Given the description of an element on the screen output the (x, y) to click on. 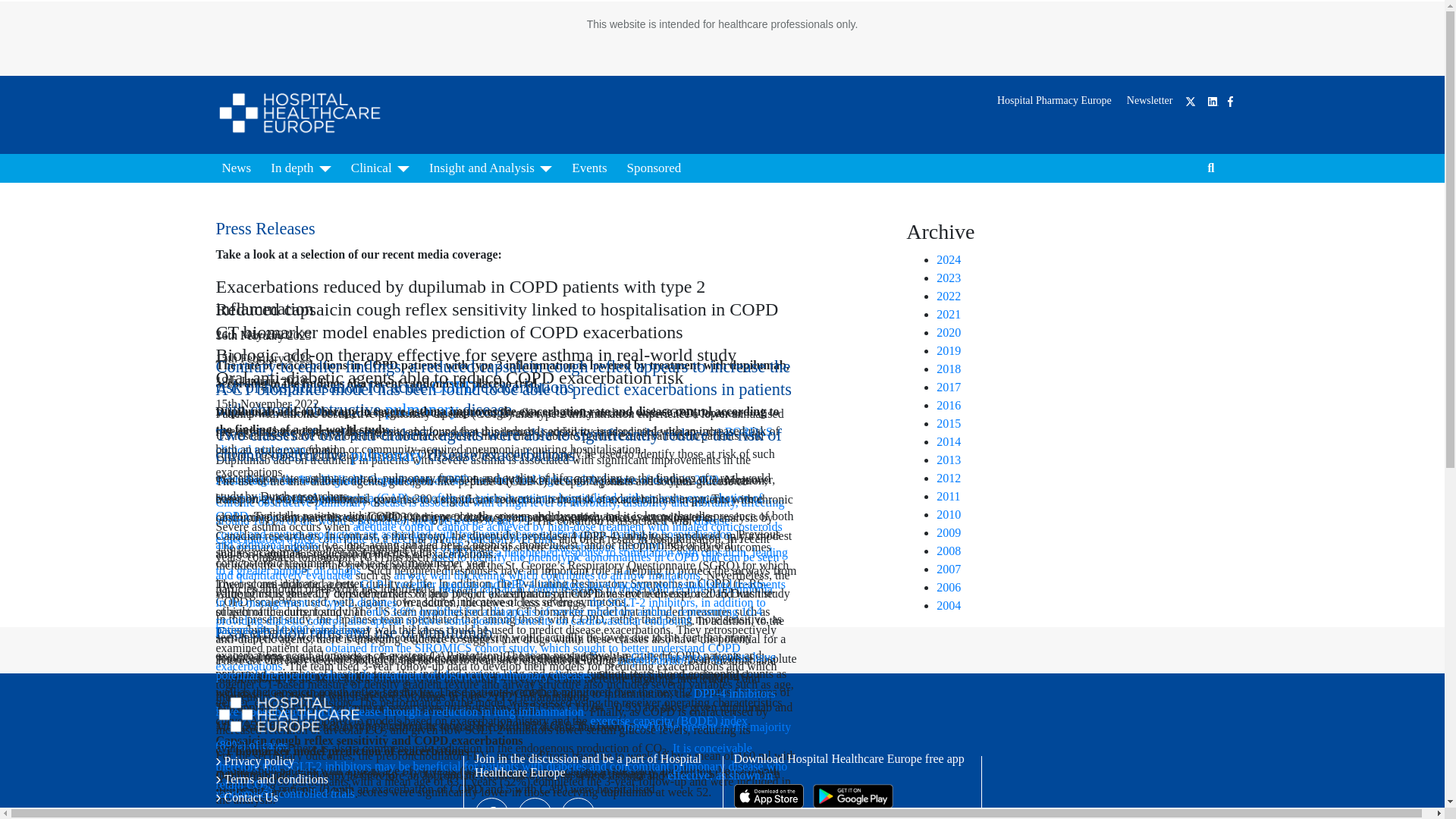
News (236, 168)
Newsletter (1149, 100)
Insight and Analysis (490, 168)
BOREAS clinical trial group (493, 440)
Events (589, 168)
Sponsored (654, 168)
Hospital Pharmacy Europe (1054, 100)
exacerbations of COPD (605, 546)
Download our app from the Apple App Store (768, 795)
COPD (453, 386)
Download our app from Google Play (852, 795)
Published in the New England Journal of Medicine (339, 480)
In depth (300, 168)
Clinical (379, 168)
